Given the description of an element on the screen output the (x, y) to click on. 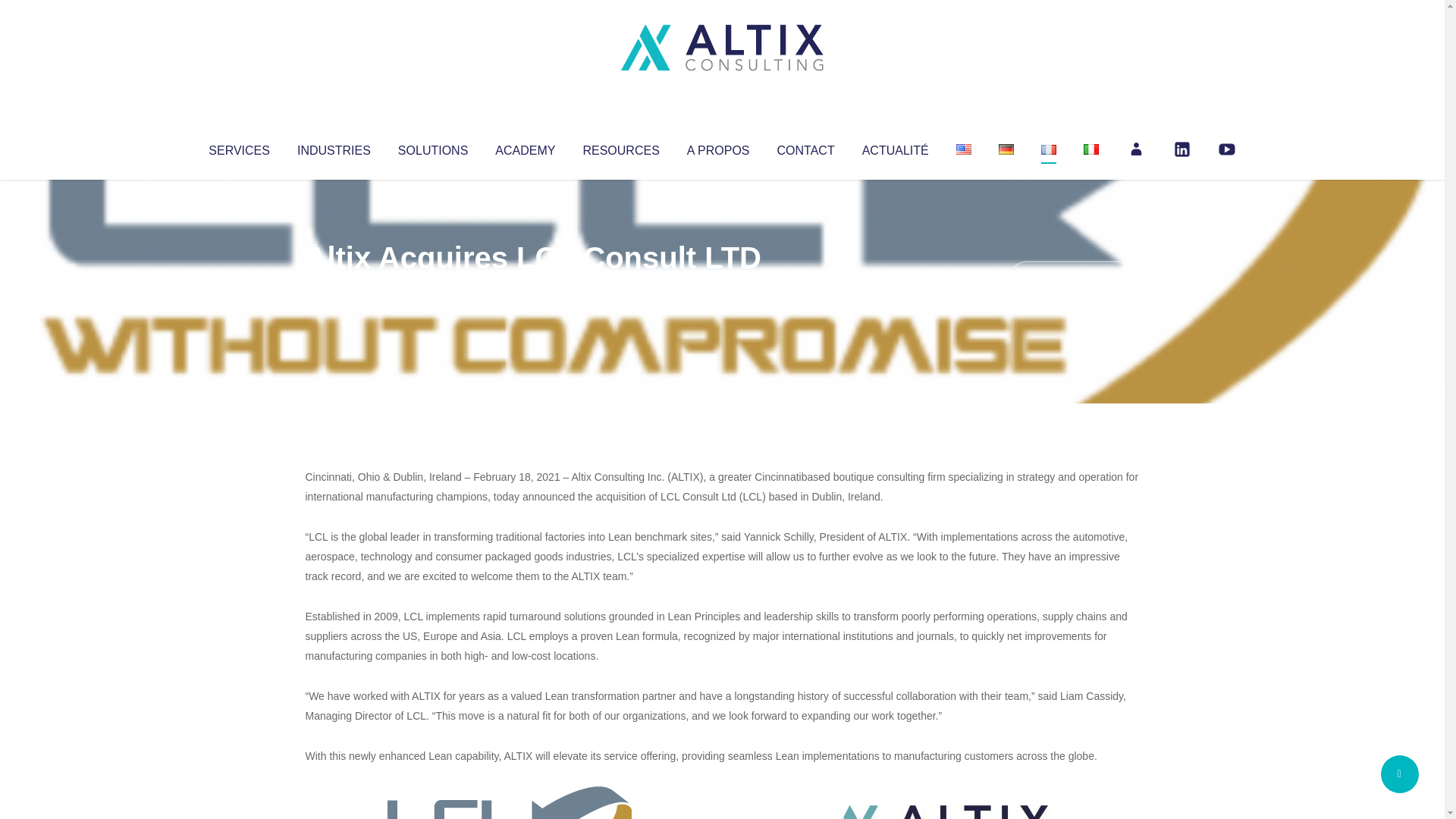
No Comments (1073, 278)
A PROPOS (718, 146)
INDUSTRIES (334, 146)
Altix (333, 287)
SERVICES (238, 146)
Articles par Altix (333, 287)
RESOURCES (620, 146)
SOLUTIONS (432, 146)
ACADEMY (524, 146)
Uncategorized (530, 287)
